Given the description of an element on the screen output the (x, y) to click on. 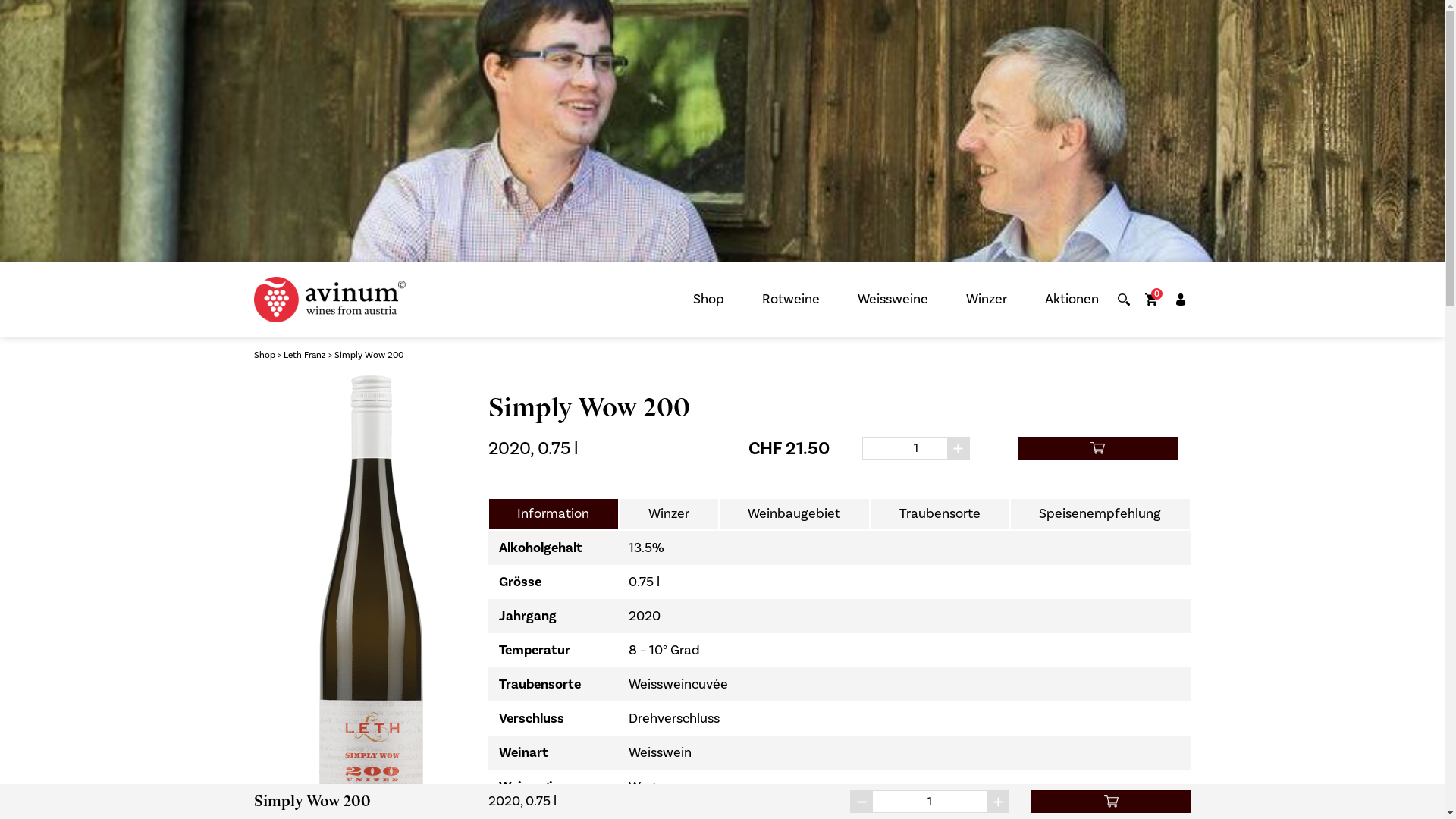
Leth Franz Element type: text (304, 354)
Search Element type: text (1123, 299)
Shop Element type: text (264, 354)
Winzer Element type: text (986, 299)
Warenkorb Element type: text (1150, 299)
Menge Element type: hover (915, 447)
Avinum Element type: hover (329, 299)
Winzer Element type: text (668, 513)
Rotweine Element type: text (790, 299)
Speisenempfehlung Element type: text (1099, 513)
Wagram Element type: text (653, 786)
Simply Wow 200 Element type: text (368, 354)
Weinbaugebiet Element type: text (794, 513)
Weissweine Element type: text (892, 299)
Aktionen Element type: text (1071, 299)
Menge Element type: hover (929, 801)
My account Element type: text (1180, 299)
13.5% Element type: text (646, 547)
Traubensorte Element type: text (939, 513)
Information Element type: text (553, 513)
2020 Element type: text (644, 615)
In den Warenkorb Element type: text (1110, 801)
Shop Element type: text (708, 299)
In den Warenkorb Element type: text (1097, 447)
Weisswein Element type: text (659, 752)
